Given the description of an element on the screen output the (x, y) to click on. 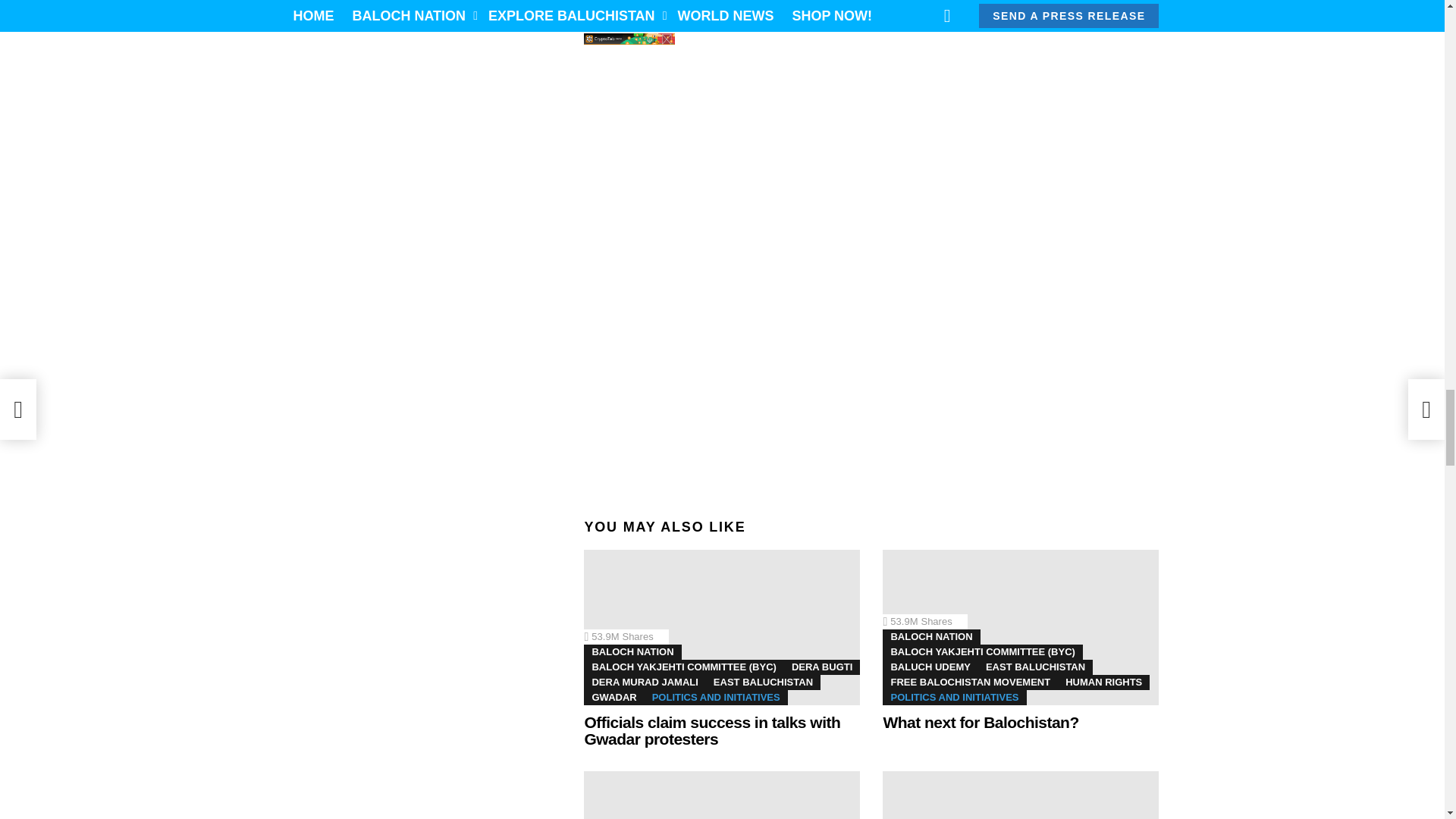
What next for Balochistan? (1020, 627)
Officials claim success in talks with Gwadar protesters (721, 627)
